Given the description of an element on the screen output the (x, y) to click on. 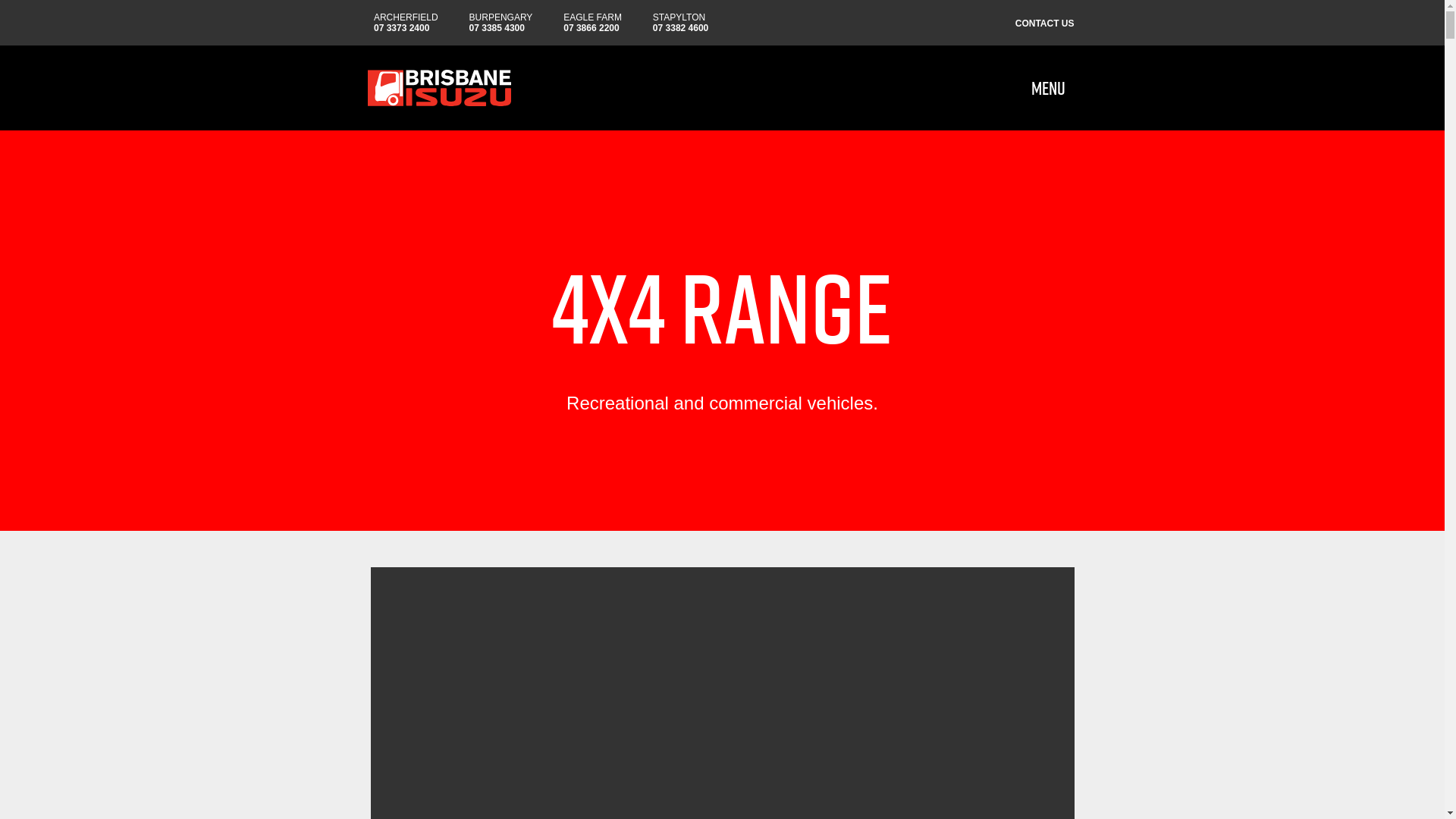
 CONTACT US (1042, 21)
